Given the description of an element on the screen output the (x, y) to click on. 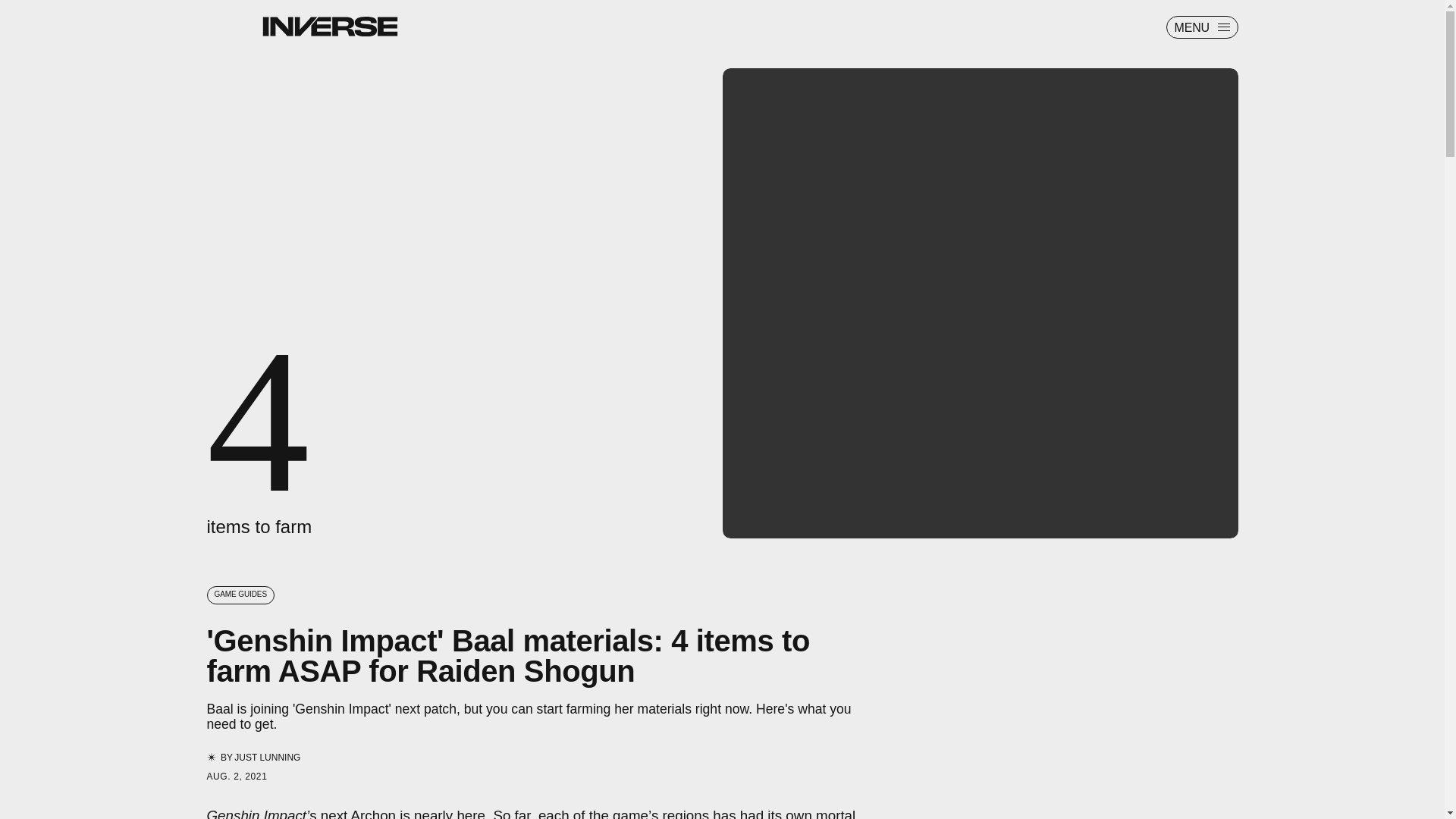
JUST LUNNING (266, 757)
Inverse (328, 26)
